Given the description of an element on the screen output the (x, y) to click on. 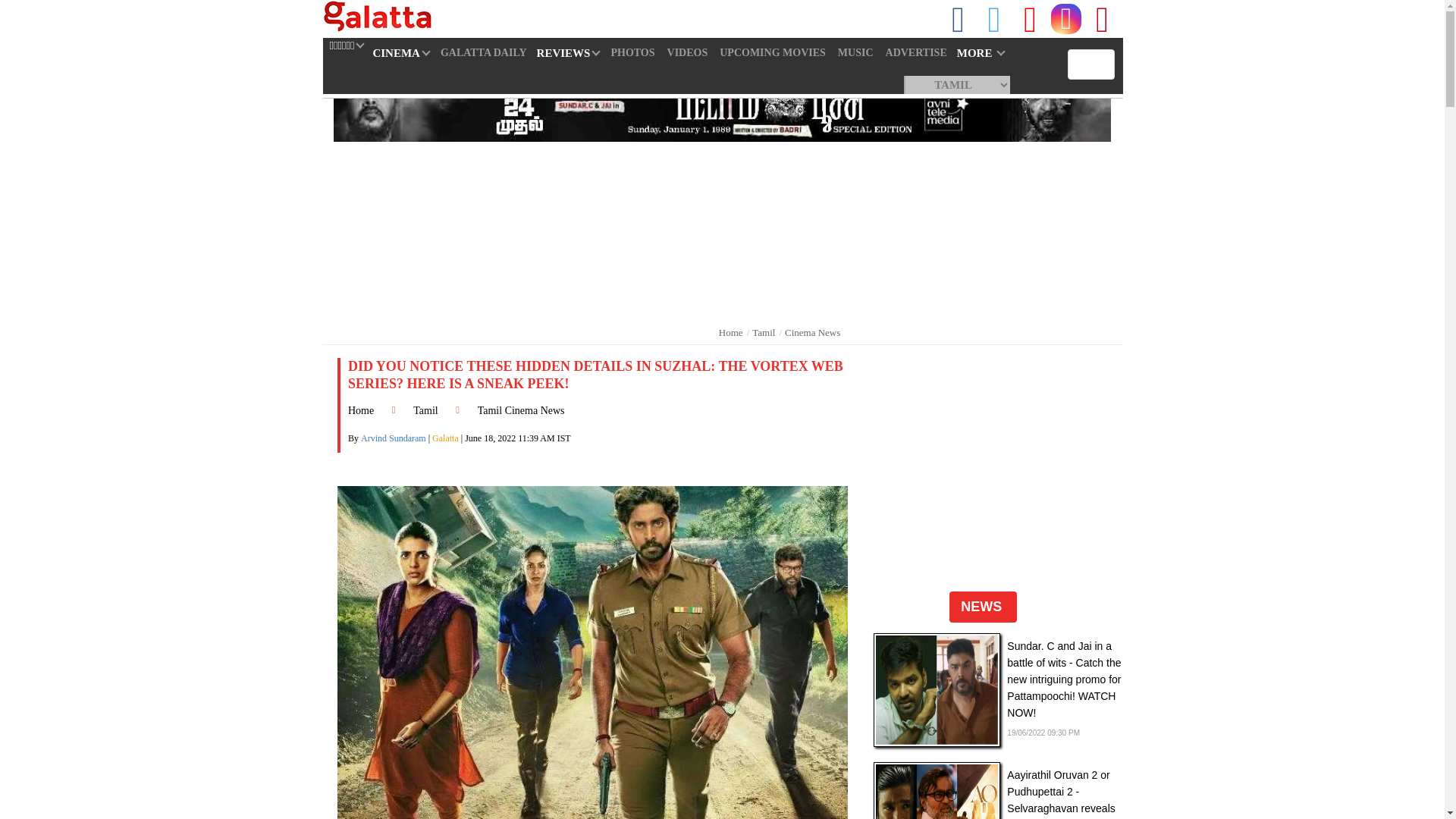
ADVERTISE (916, 52)
Share on Facebook (958, 18)
GALATTA DAILY (482, 52)
Photos (632, 52)
Upcoming Movies (772, 52)
VIDEOS (687, 52)
Advertise (916, 52)
Tweet (993, 18)
UPCOMING MOVIES (772, 52)
PHOTOS (632, 52)
galatta (377, 16)
Youtube (1029, 18)
Music (855, 52)
Galatta Daily (482, 52)
Videos (687, 52)
